Given the description of an element on the screen output the (x, y) to click on. 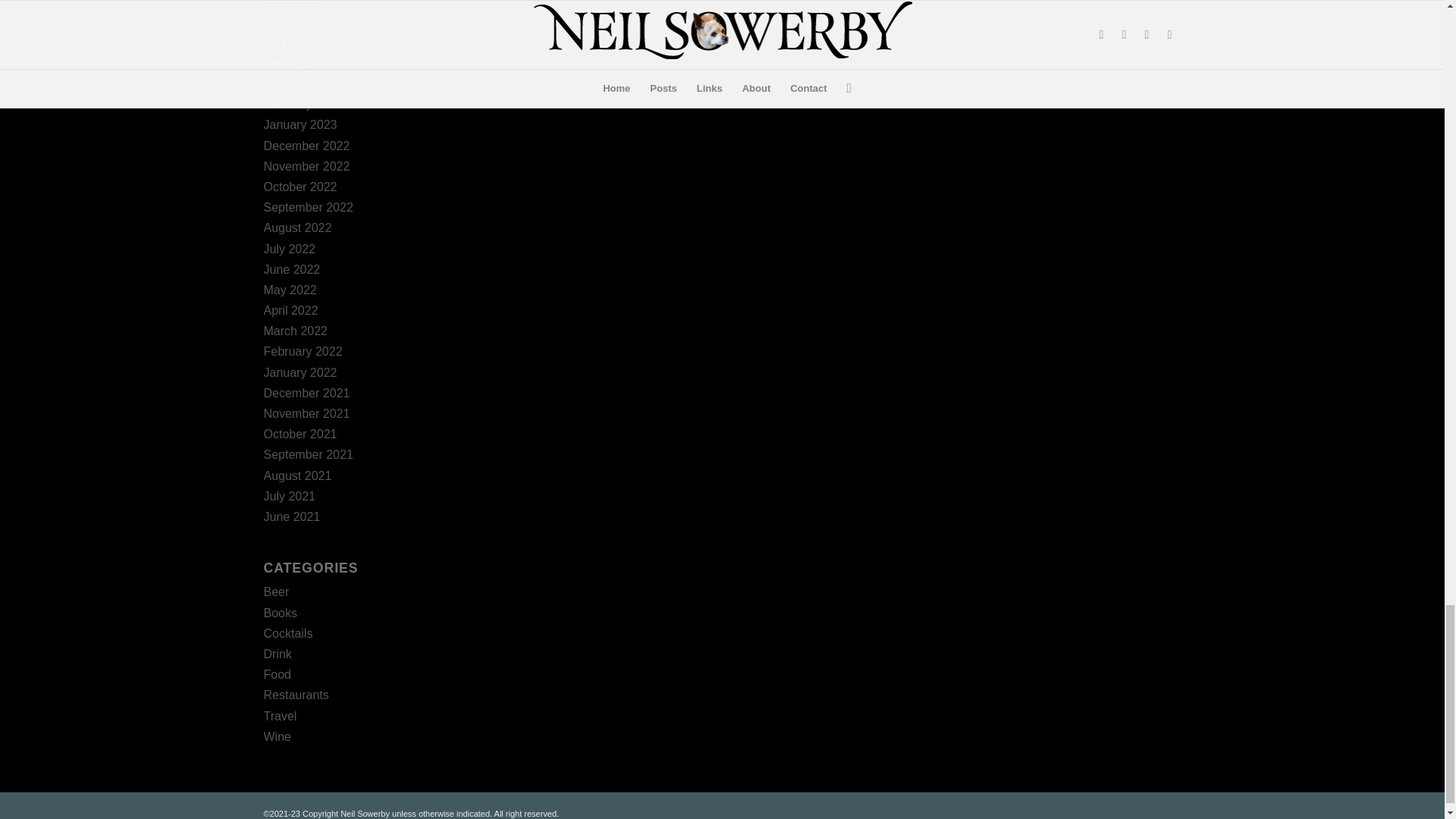
February 2023 (302, 103)
October 2022 (300, 186)
March 2023 (296, 83)
September 2022 (308, 206)
April 2023 (290, 62)
December 2022 (306, 145)
June 2023 (291, 21)
July 2023 (289, 3)
November 2022 (306, 165)
May 2023 (290, 42)
January 2023 (300, 124)
